Given the description of an element on the screen output the (x, y) to click on. 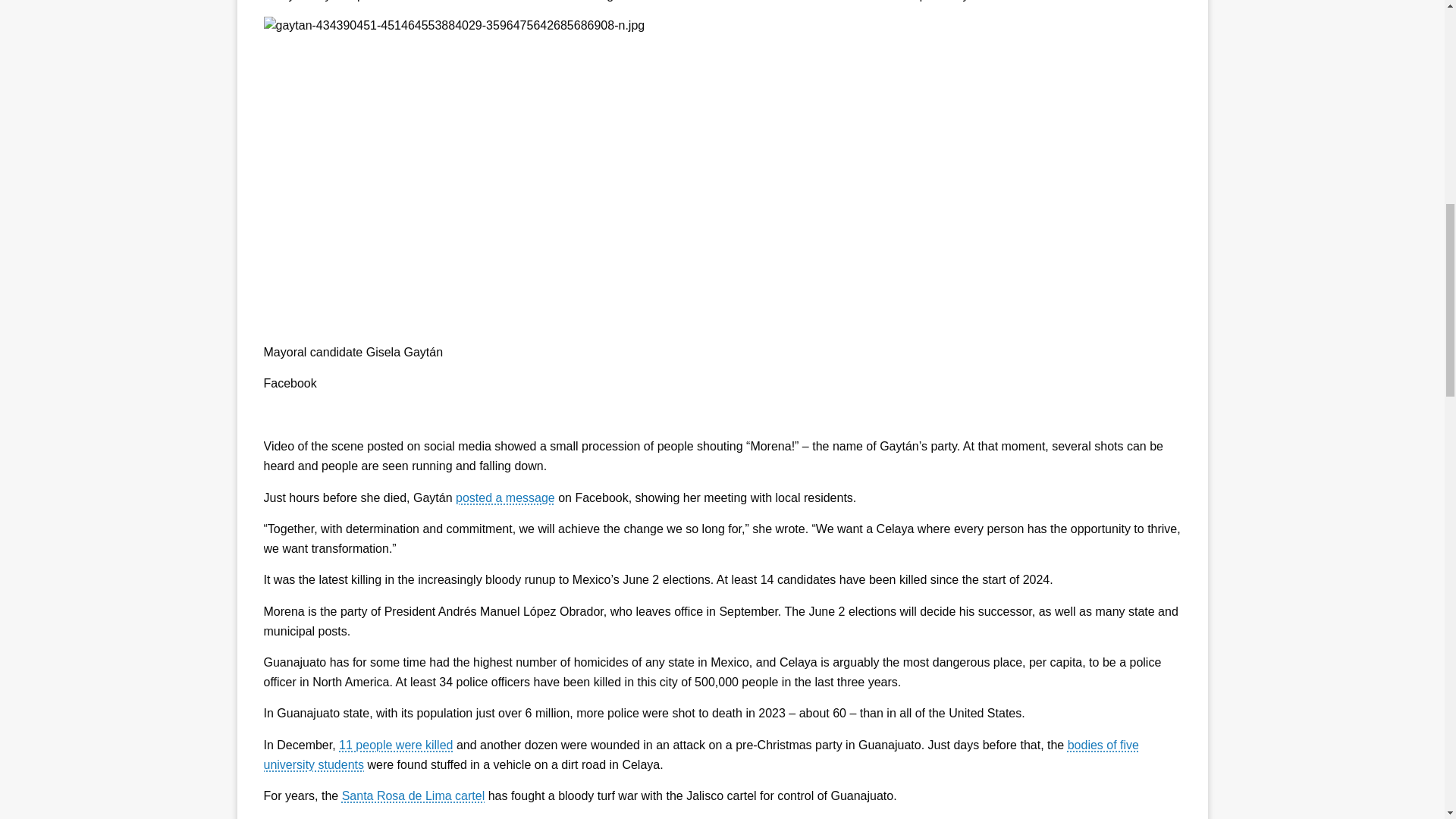
Santa Rosa de Lima cartel (413, 795)
posted a message (504, 497)
bodies of five university students (700, 754)
11 people were killed (395, 744)
